Given the description of an element on the screen output the (x, y) to click on. 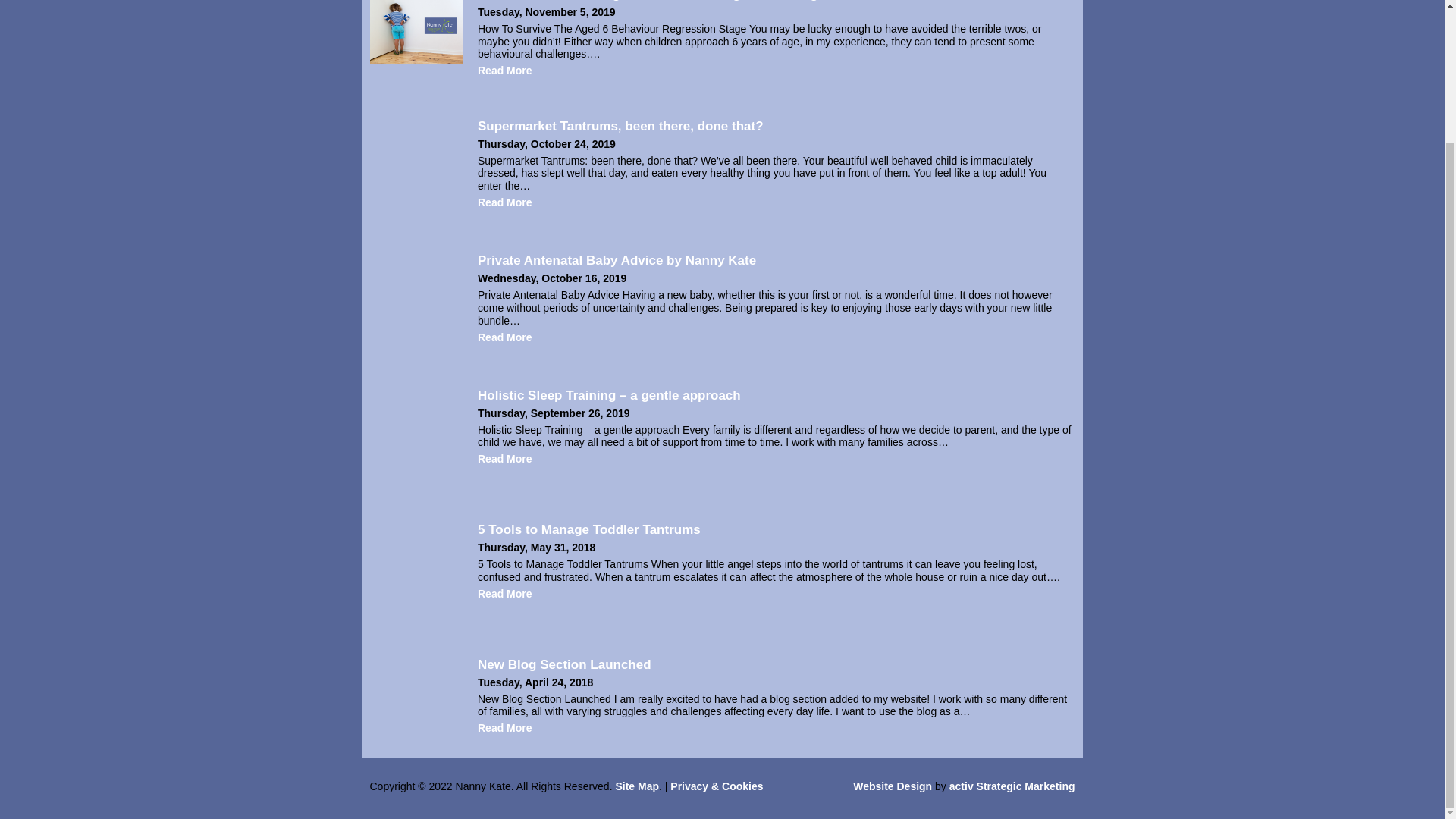
Read More (504, 202)
Supermarket Tantrums, been there, done that? (619, 125)
Read More (504, 337)
Web design (892, 786)
Read More (504, 70)
Private Antenatal Baby Advice by Nanny Kate (616, 260)
